Given the description of an element on the screen output the (x, y) to click on. 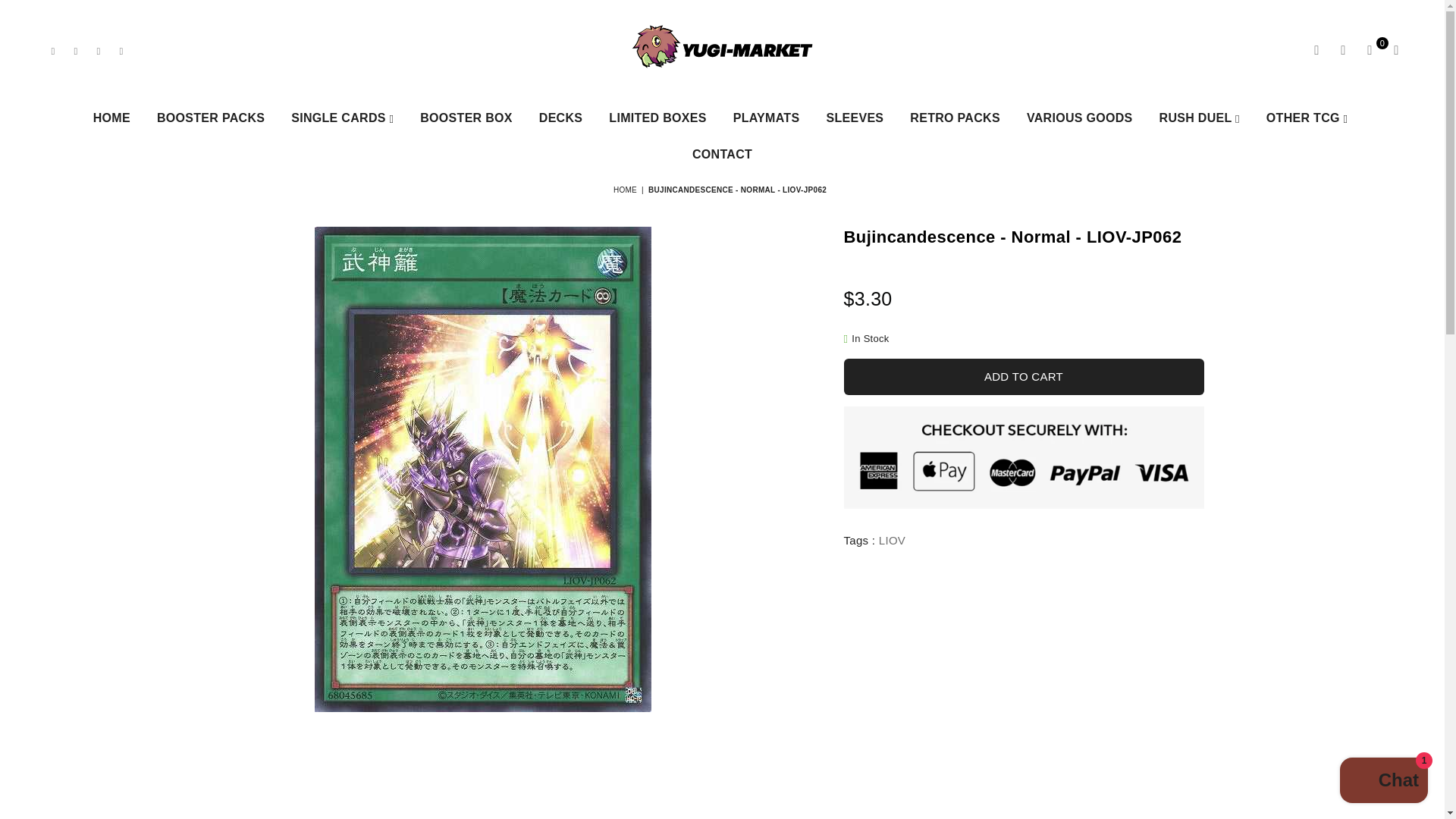
SINGLE CARDS (341, 118)
HOME (111, 118)
Twitter (75, 50)
0 (1369, 50)
Yugi-Market on Facebook (53, 50)
Instagram (98, 50)
SEARCH (1316, 50)
TikTok (121, 50)
Yugi-Market on TikTok (121, 50)
Yugi-Market on Instagram (98, 50)
YUGI-MARKET (721, 50)
CART (1369, 50)
Yugi-Market on Twitter (75, 50)
Back to the home page (625, 189)
Facebook (53, 50)
